Given the description of an element on the screen output the (x, y) to click on. 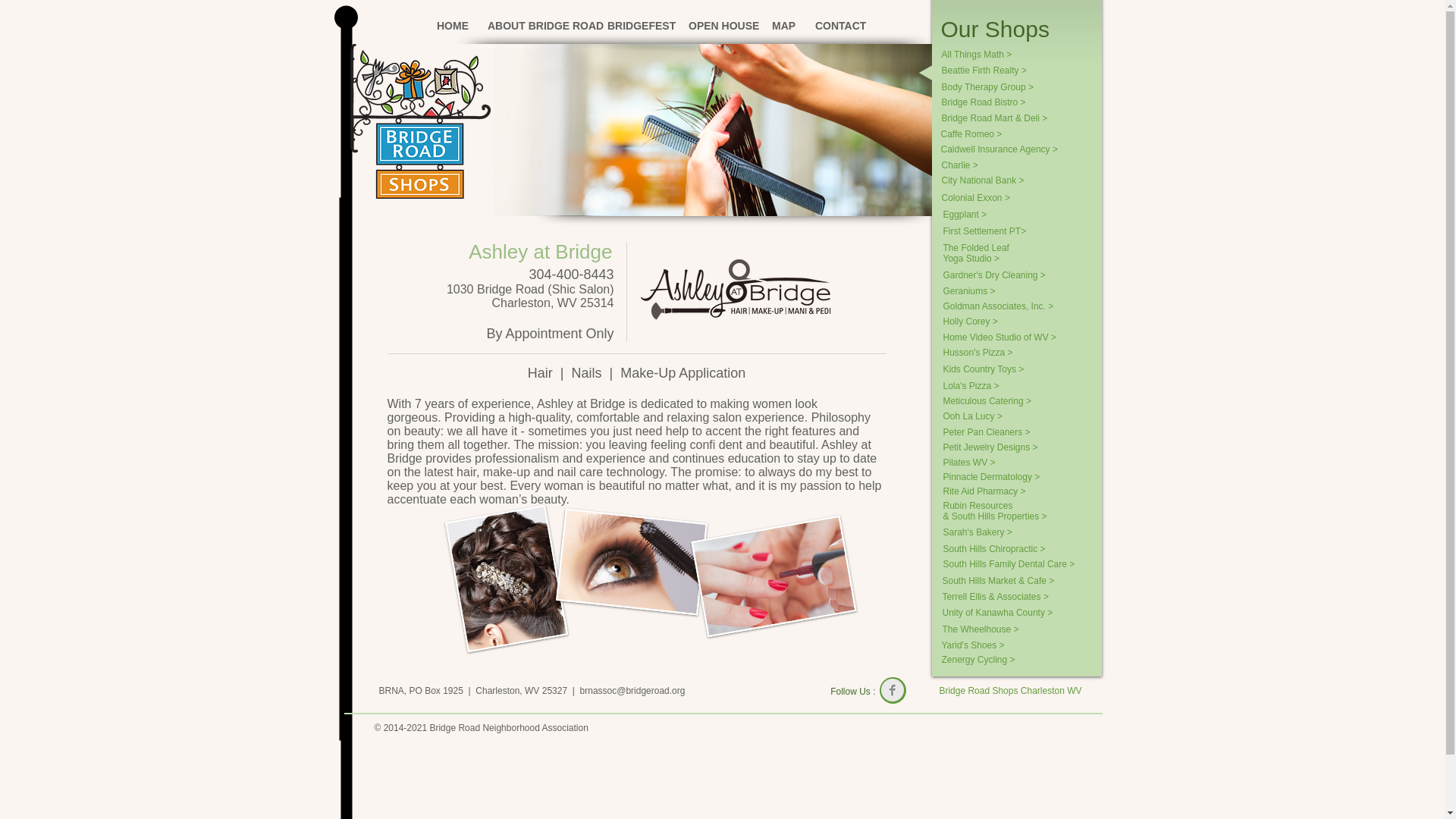
OPEN HOUSE (718, 25)
Rubin Resources (1008, 505)
ABOUT BRIDGE ROAD (535, 25)
Ashley at Bridge (539, 251)
BRIDGEFEST (636, 25)
CONTACT (835, 25)
HOME (450, 25)
The Folded Leaf (981, 247)
MAP (781, 25)
